Given the description of an element on the screen output the (x, y) to click on. 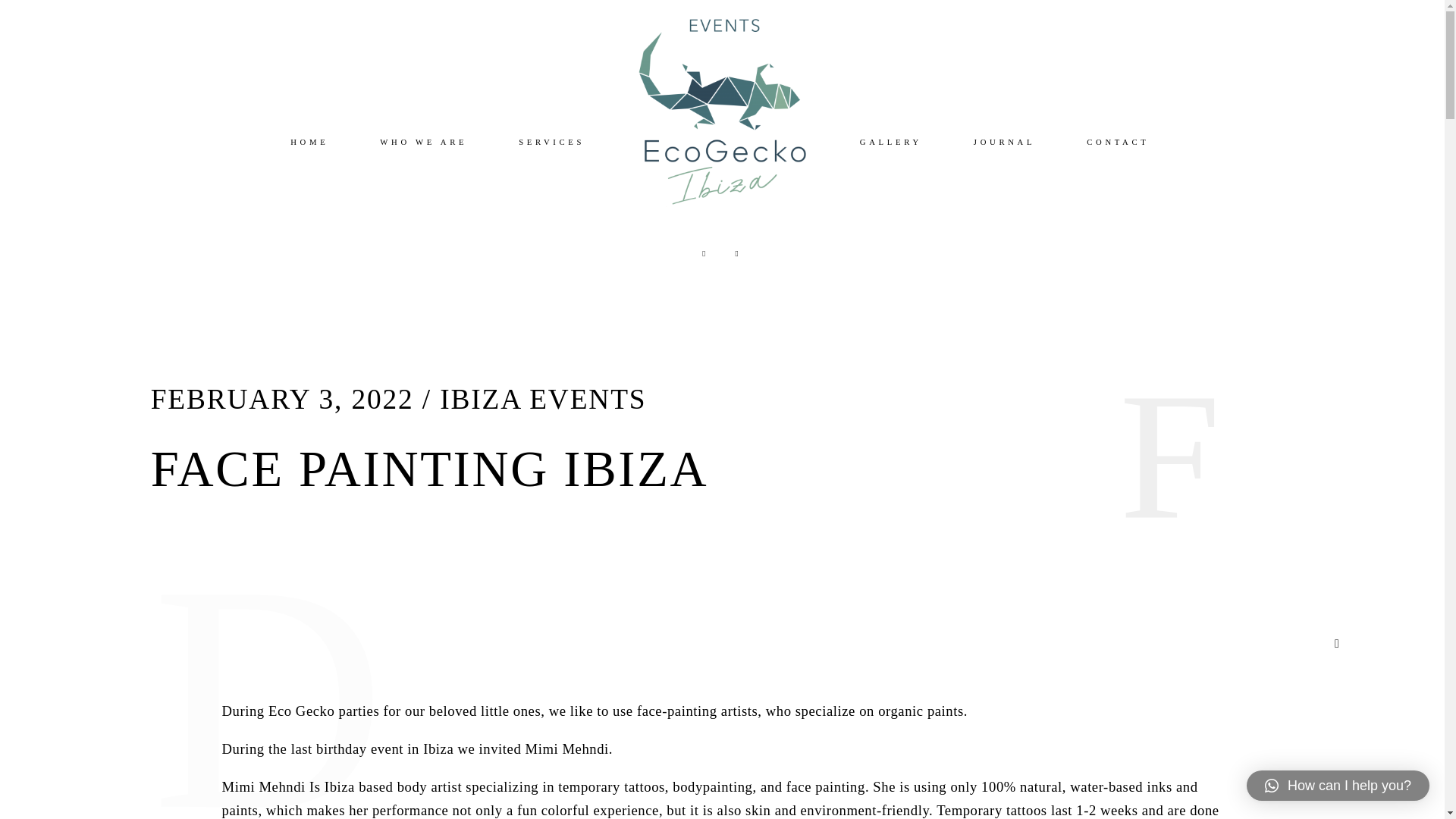
WHO WE ARE (423, 142)
HOME (309, 142)
CONTACT (1117, 142)
How can I help you? (1337, 785)
SERVICES (551, 142)
IBIZA EVENTS (542, 399)
JOURNAL (1004, 142)
GALLERY (890, 142)
